Given the description of an element on the screen output the (x, y) to click on. 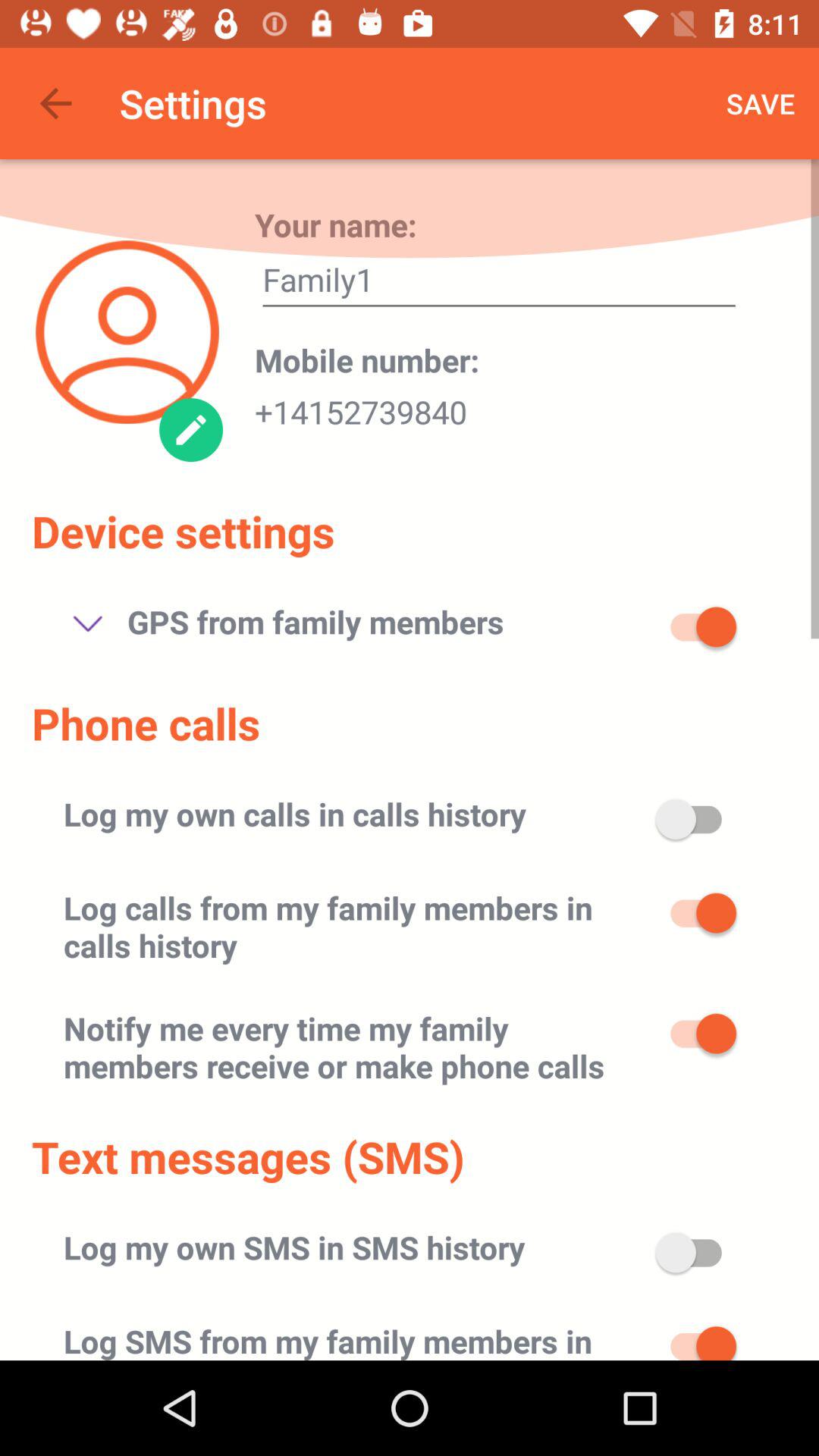
scroll until text messages (sms) icon (247, 1156)
